Given the description of an element on the screen output the (x, y) to click on. 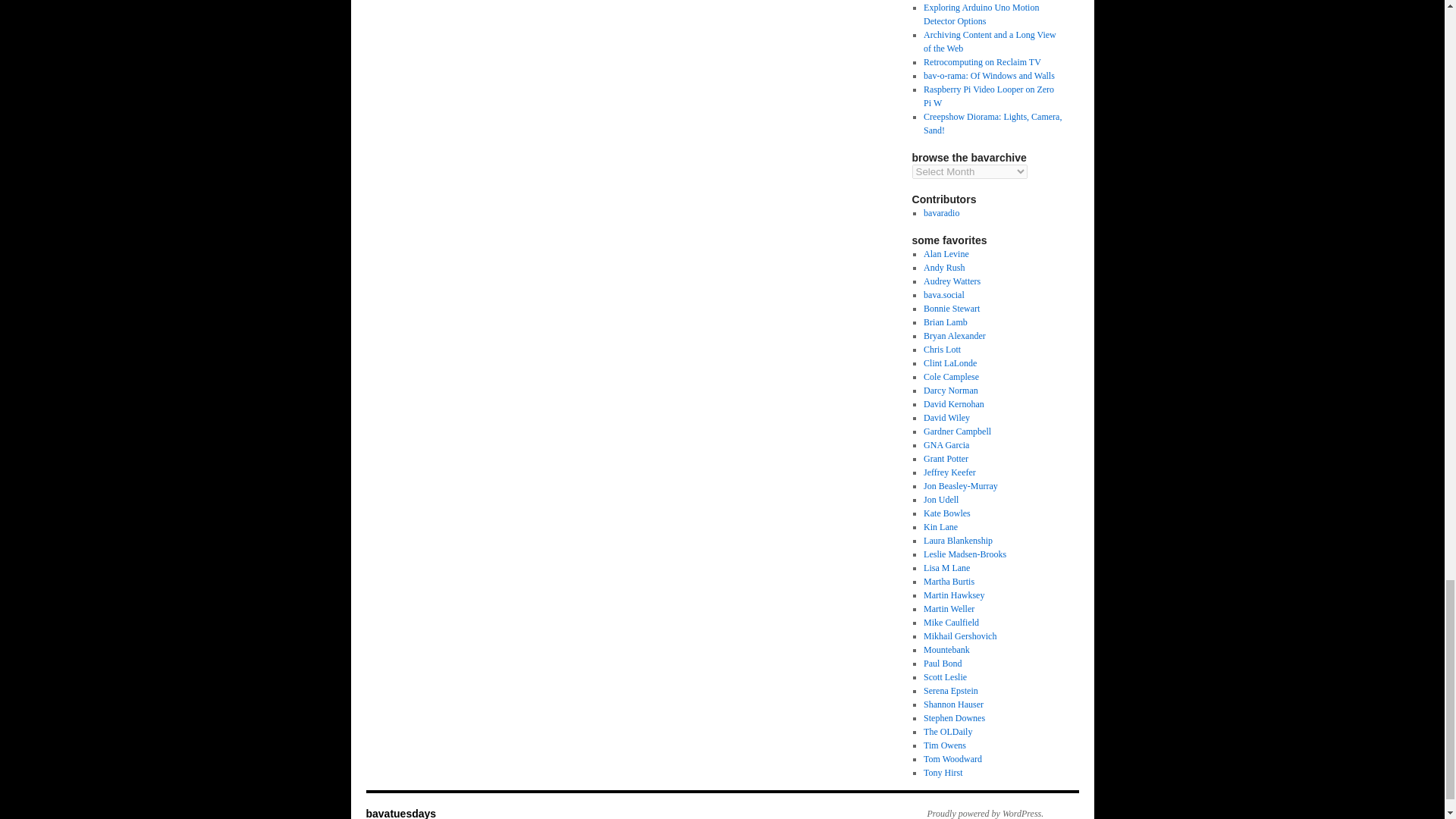
Lauren Blankenship lays it down (957, 540)
bava on the radio (941, 213)
